Given the description of an element on the screen output the (x, y) to click on. 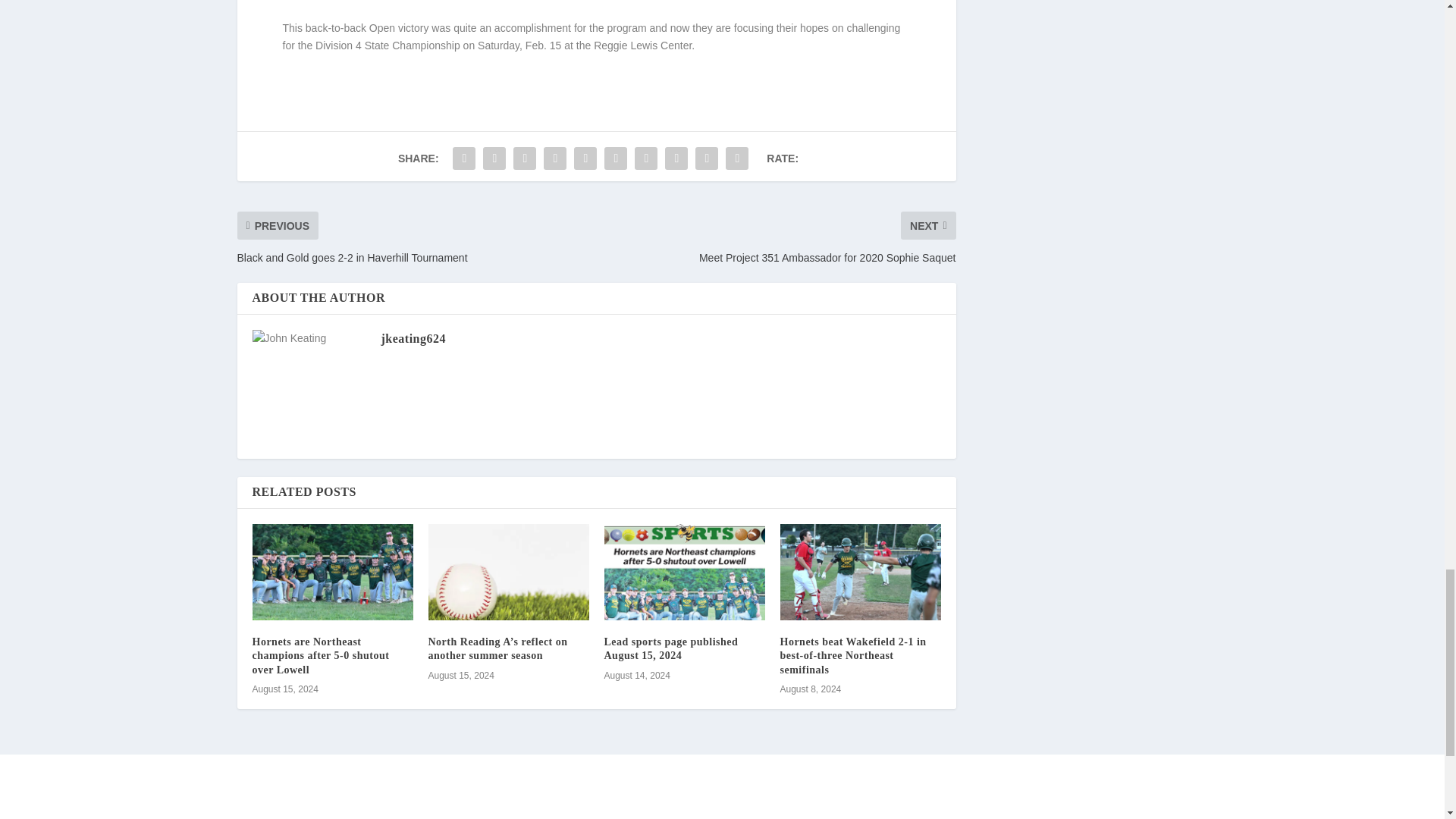
Lead sports page published August 15, 2024 (671, 648)
Share "Repeat: Hornets win CAL Open title" via Tumblr (555, 158)
Share "Repeat: Hornets win CAL Open title" via LinkedIn (614, 158)
Share "Repeat: Hornets win CAL Open title" via Pinterest (584, 158)
Share "Repeat: Hornets win CAL Open title" via Facebook (463, 158)
jkeating624 (412, 338)
Share "Repeat: Hornets win CAL Open title" via Twitter (494, 158)
